Given the description of an element on the screen output the (x, y) to click on. 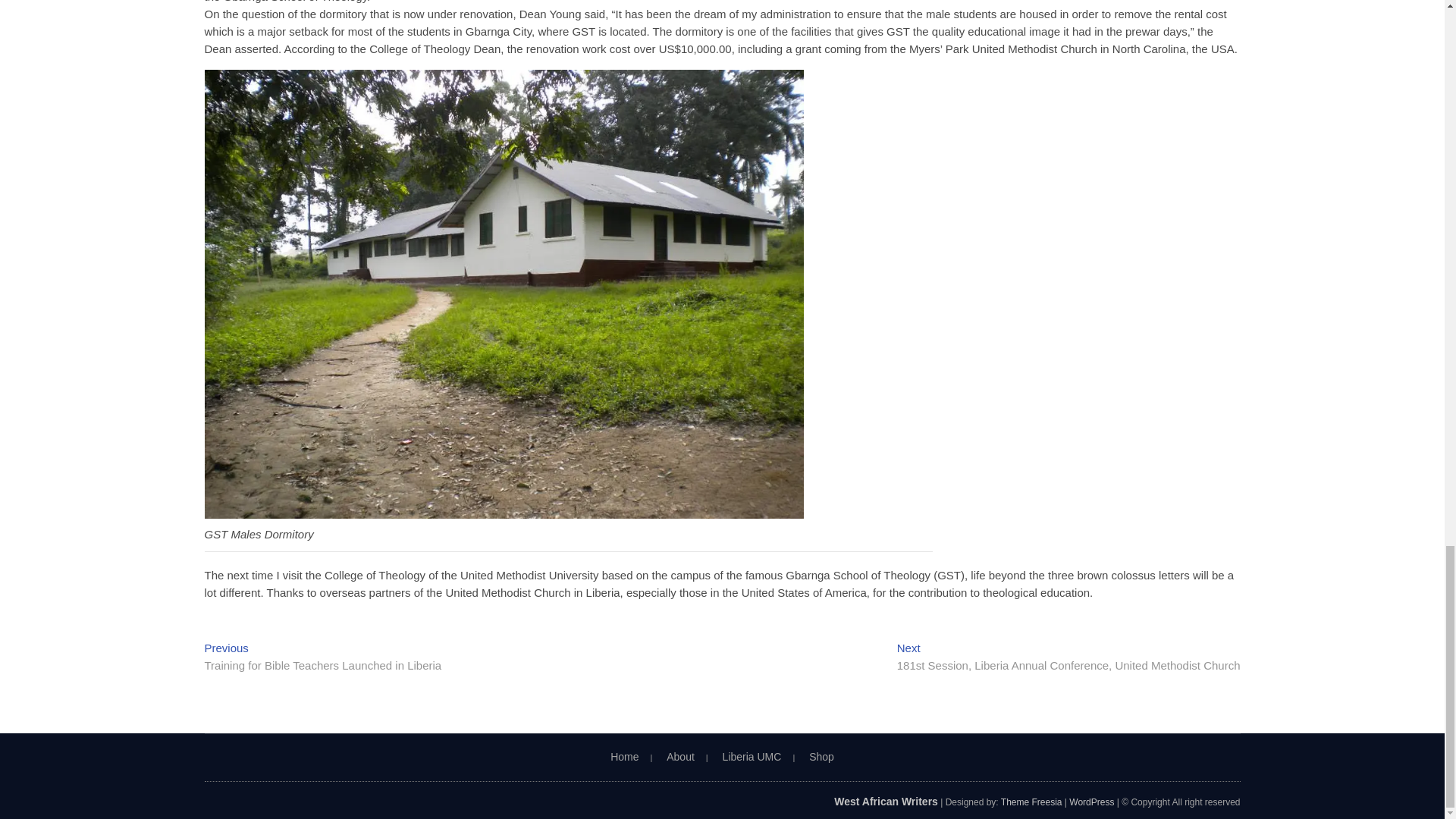
West African Writers (885, 801)
WordPress (1090, 801)
Home (623, 756)
Theme Freesia (1031, 801)
About (680, 756)
Shop (821, 756)
Liberia UMC (752, 756)
Theme Freesia (1031, 801)
WordPress (1090, 801)
West African Writers (885, 801)
